Given the description of an element on the screen output the (x, y) to click on. 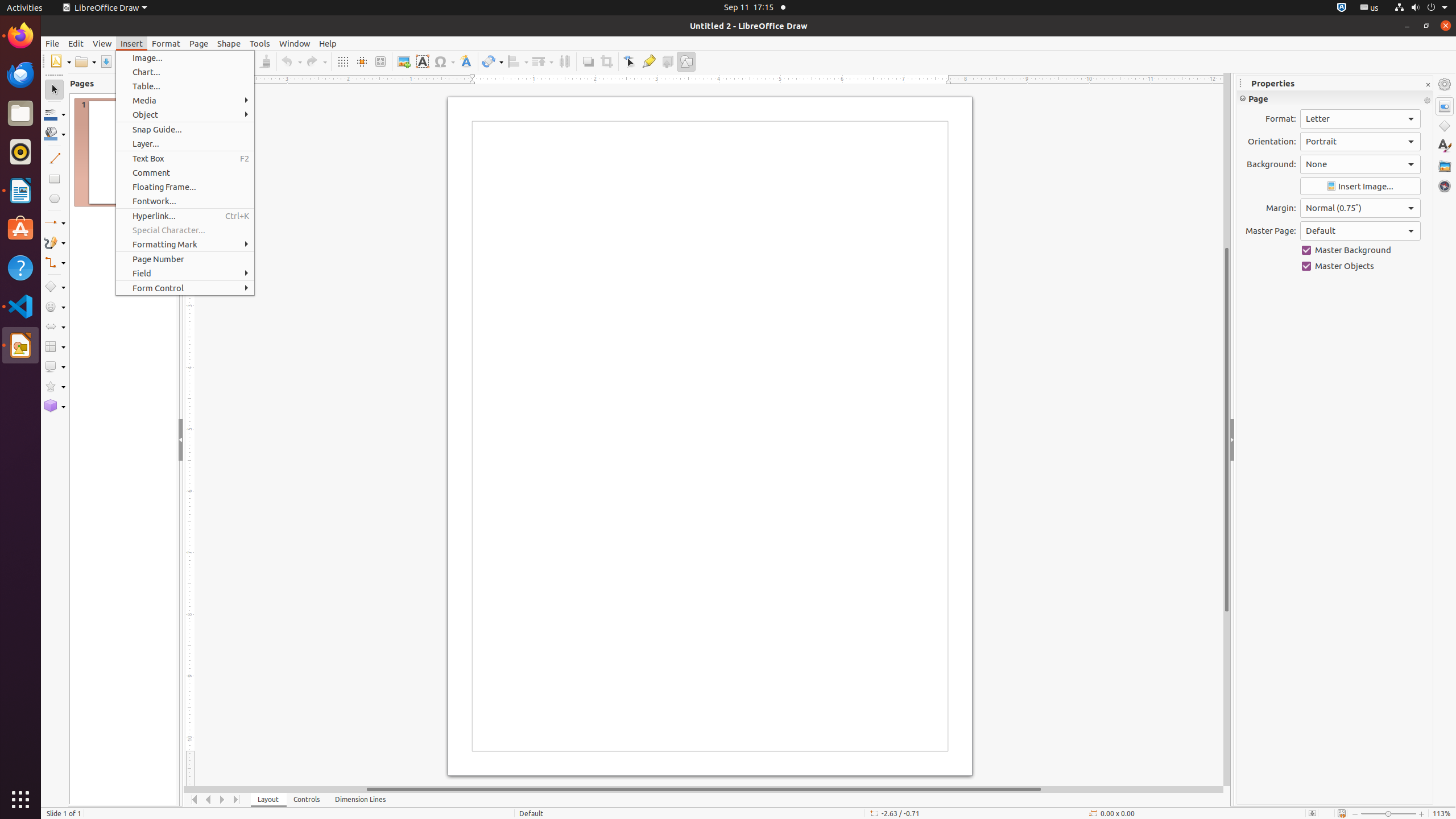
Thunderbird Mail Element type: push-button (20, 74)
LibreOffice Draw Element type: push-button (20, 344)
Open Element type: push-button (84, 61)
Star Shapes Element type: push-button (54, 386)
Chart... Element type: menu-item (185, 71)
